Given the description of an element on the screen output the (x, y) to click on. 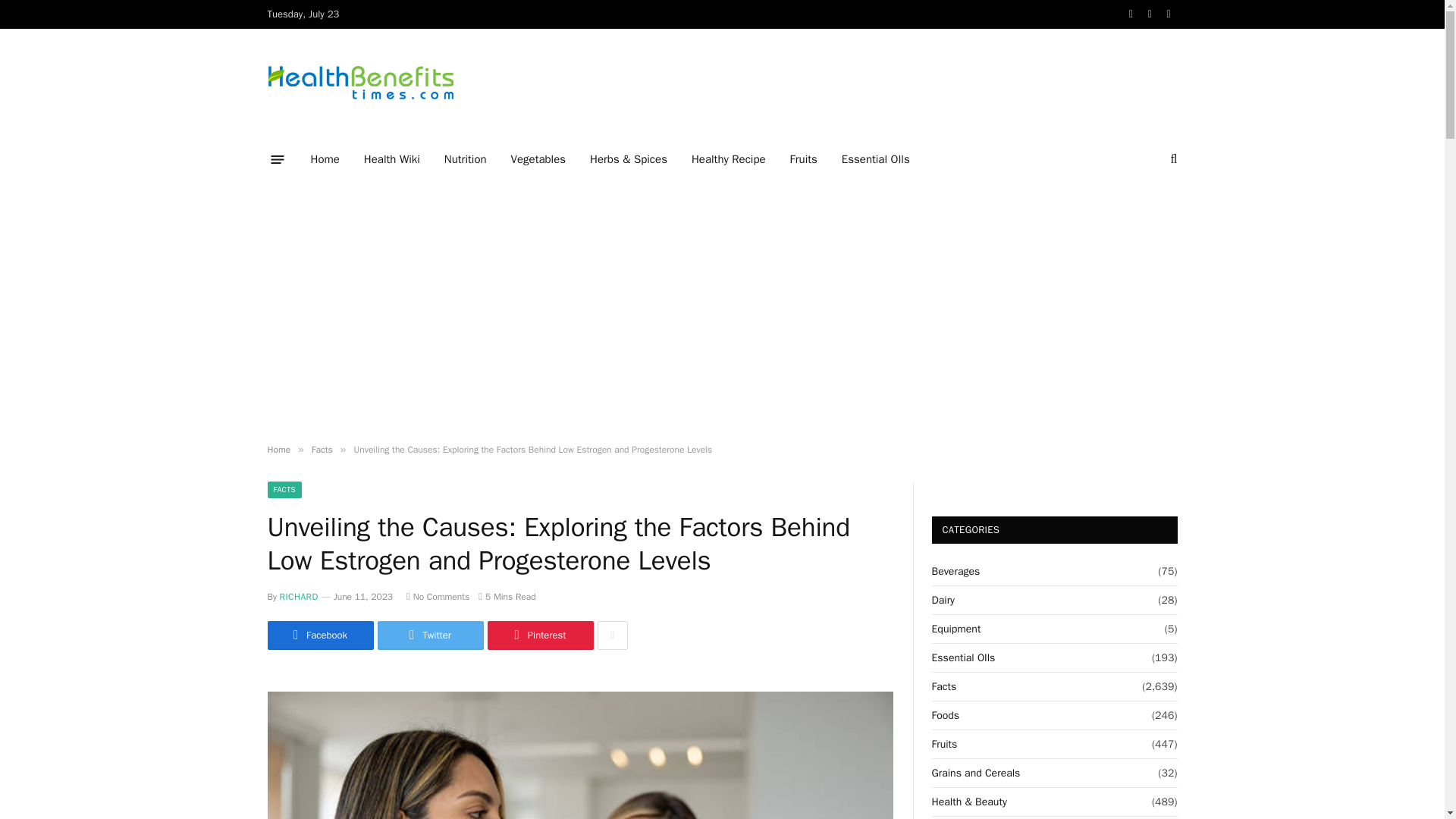
RICHARD (298, 596)
Posts by Richard (298, 596)
FACTS (283, 489)
Share on Facebook (319, 635)
Facebook (319, 635)
Home (277, 449)
No Comments (437, 596)
Health Benefits (359, 83)
Show More Social Sharing (611, 635)
Facts (322, 449)
Essential OIls (875, 159)
Share on Twitter (430, 635)
Vegetables (538, 159)
Pinterest (539, 635)
Healthy Recipe (728, 159)
